Given the description of an element on the screen output the (x, y) to click on. 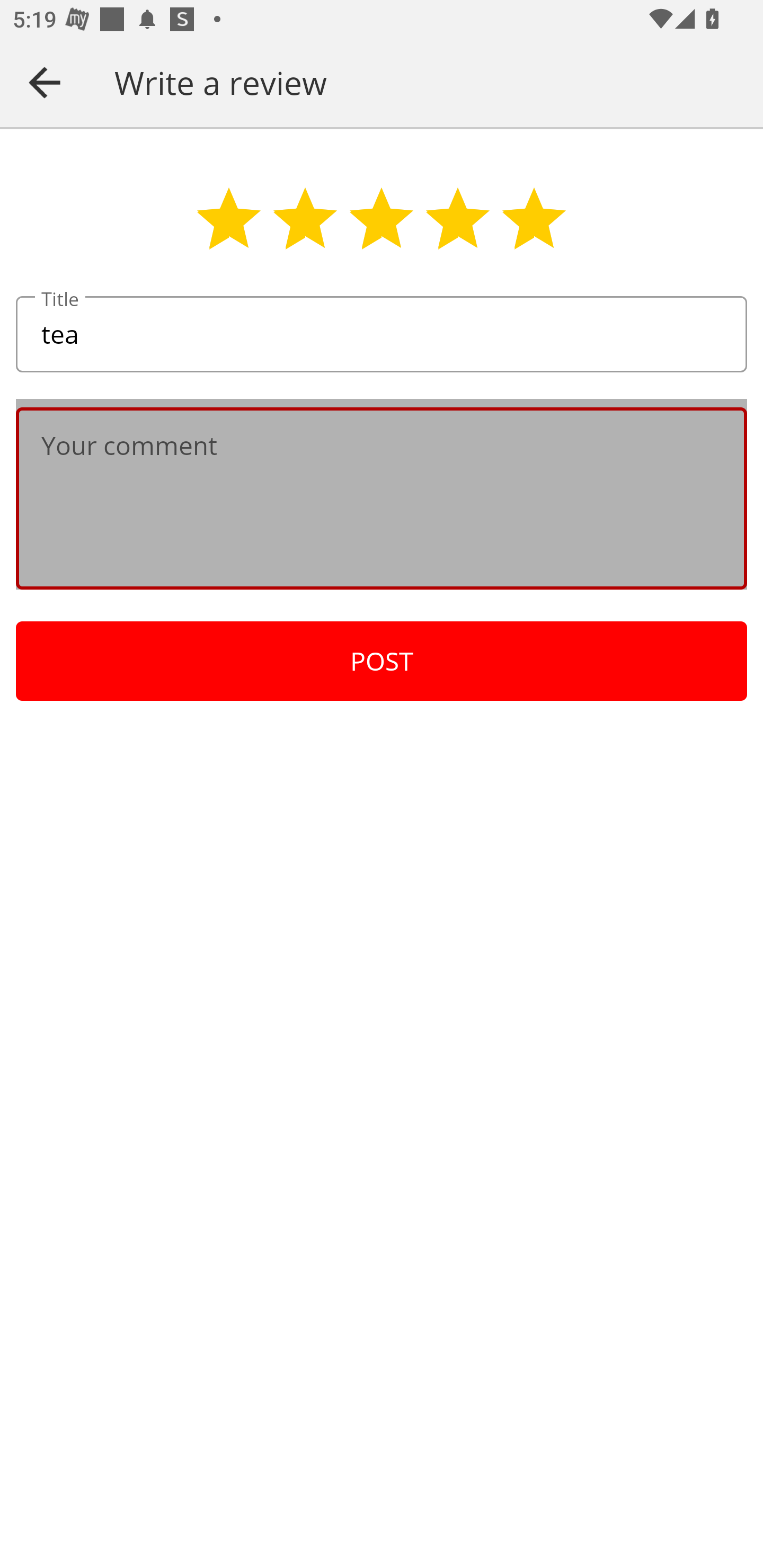
Navigate up (44, 82)
tea (381, 334)
Your comment (381, 498)
POST (381, 660)
